Given the description of an element on the screen output the (x, y) to click on. 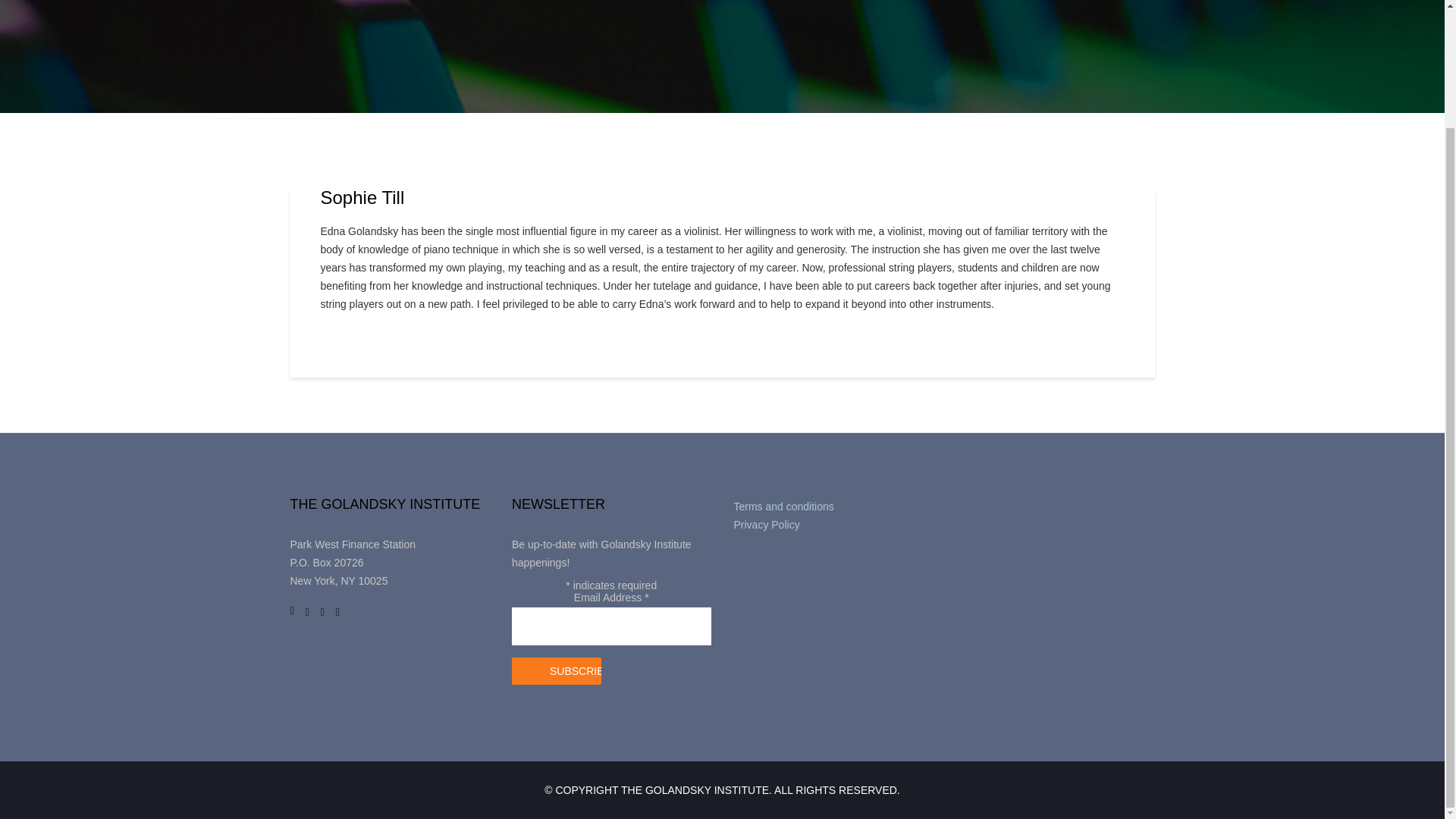
Subscribe (556, 670)
